Given the description of an element on the screen output the (x, y) to click on. 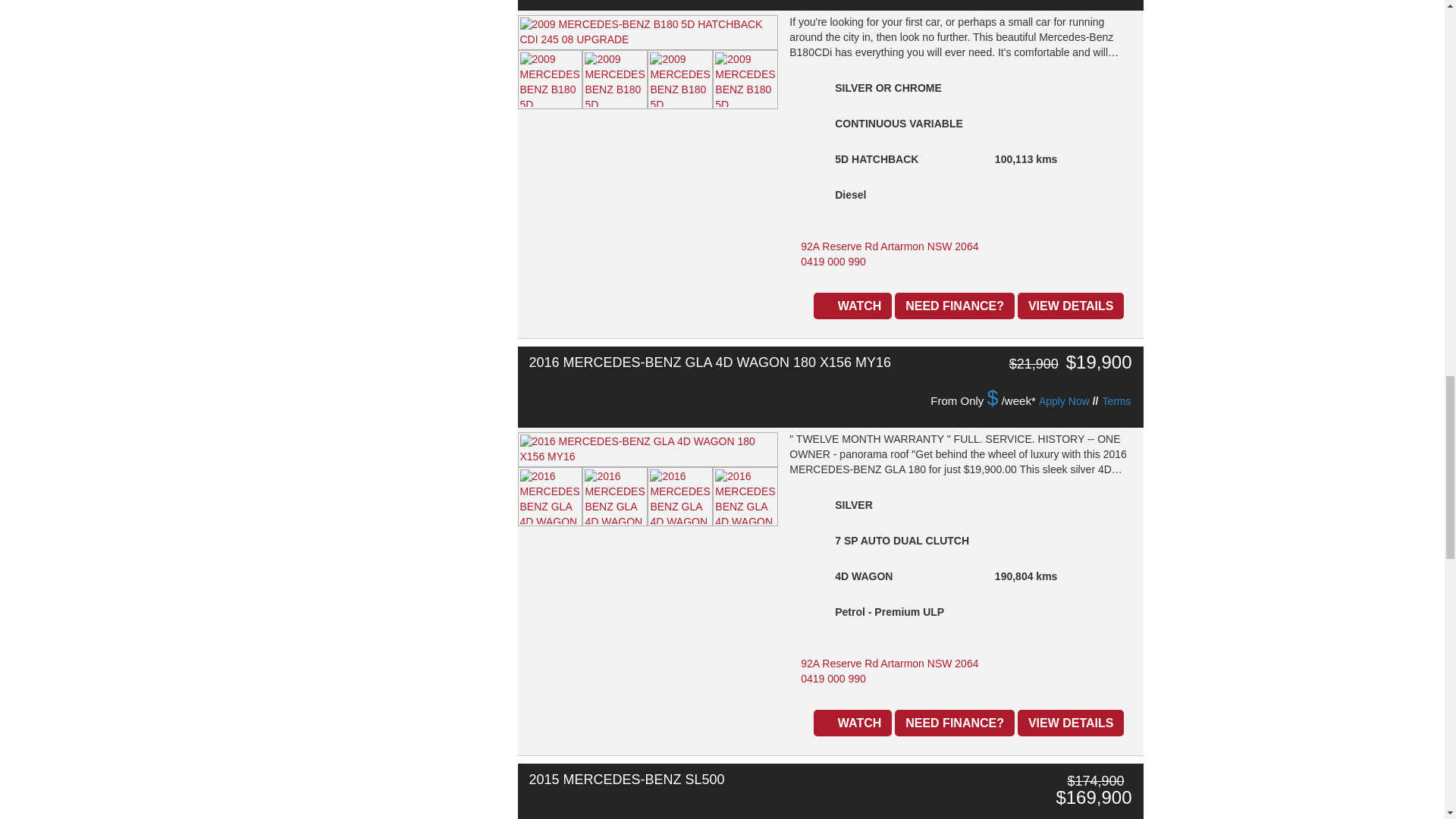
2009-MERCEDES-BENZ-B180 (549, 78)
2016-MERCEDES-BENZ-GLA (646, 449)
2009-MERCEDES-BENZ-B180 (680, 78)
2009-MERCEDES-BENZ-B180 (745, 78)
2009-MERCEDES-BENZ-B180 (614, 78)
2009-MERCEDES-BENZ-B180 (646, 32)
2016-MERCEDES-BENZ-GLA (549, 496)
